Given the description of an element on the screen output the (x, y) to click on. 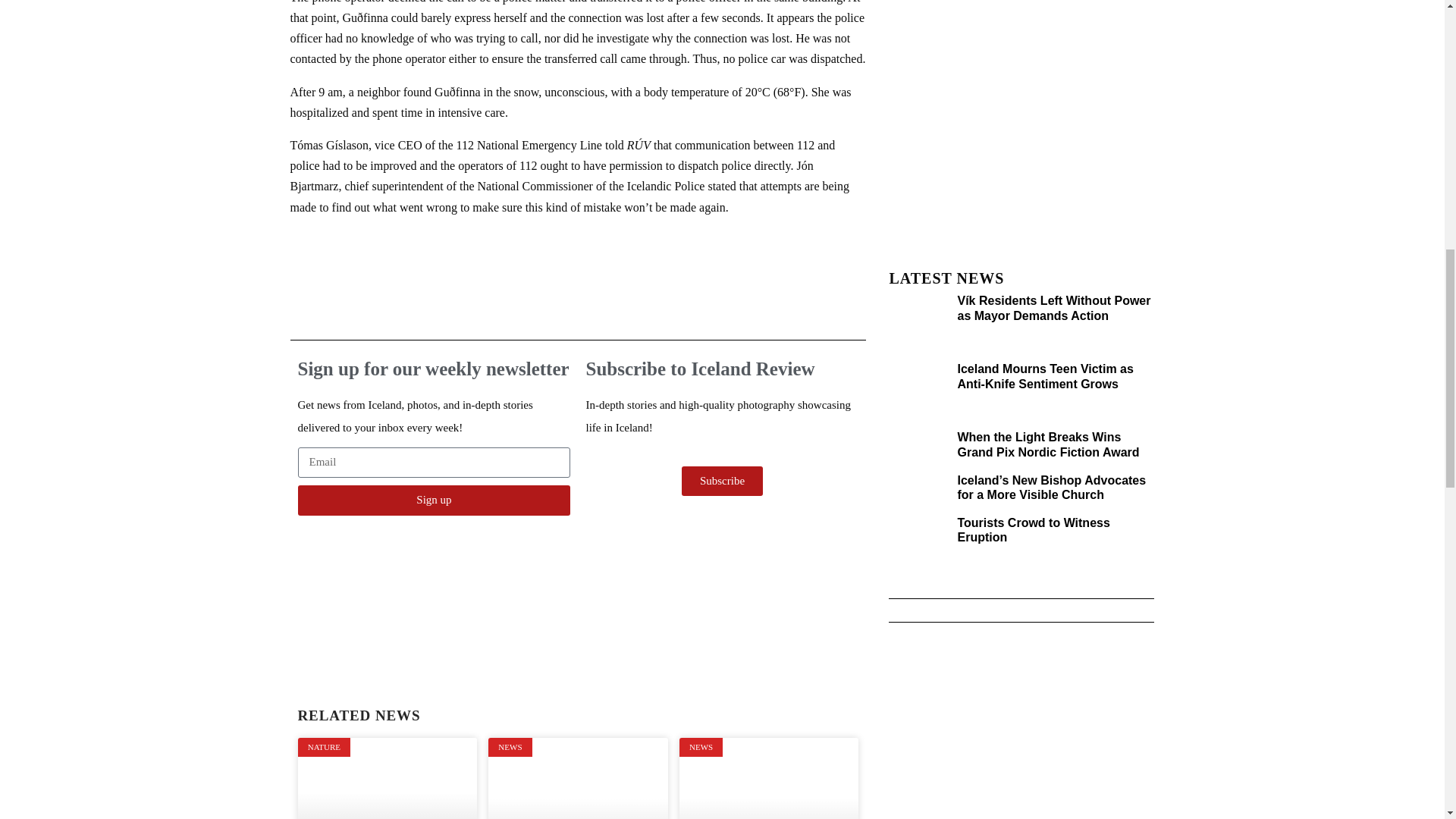
Tourists Crowd to Witness Eruption (1032, 529)
Iceland Mourns Teen Victim as Anti-Knife Sentiment Grows (1044, 375)
When the Light Breaks Wins Grand Pix Nordic Fiction Award (1047, 443)
